Given the description of an element on the screen output the (x, y) to click on. 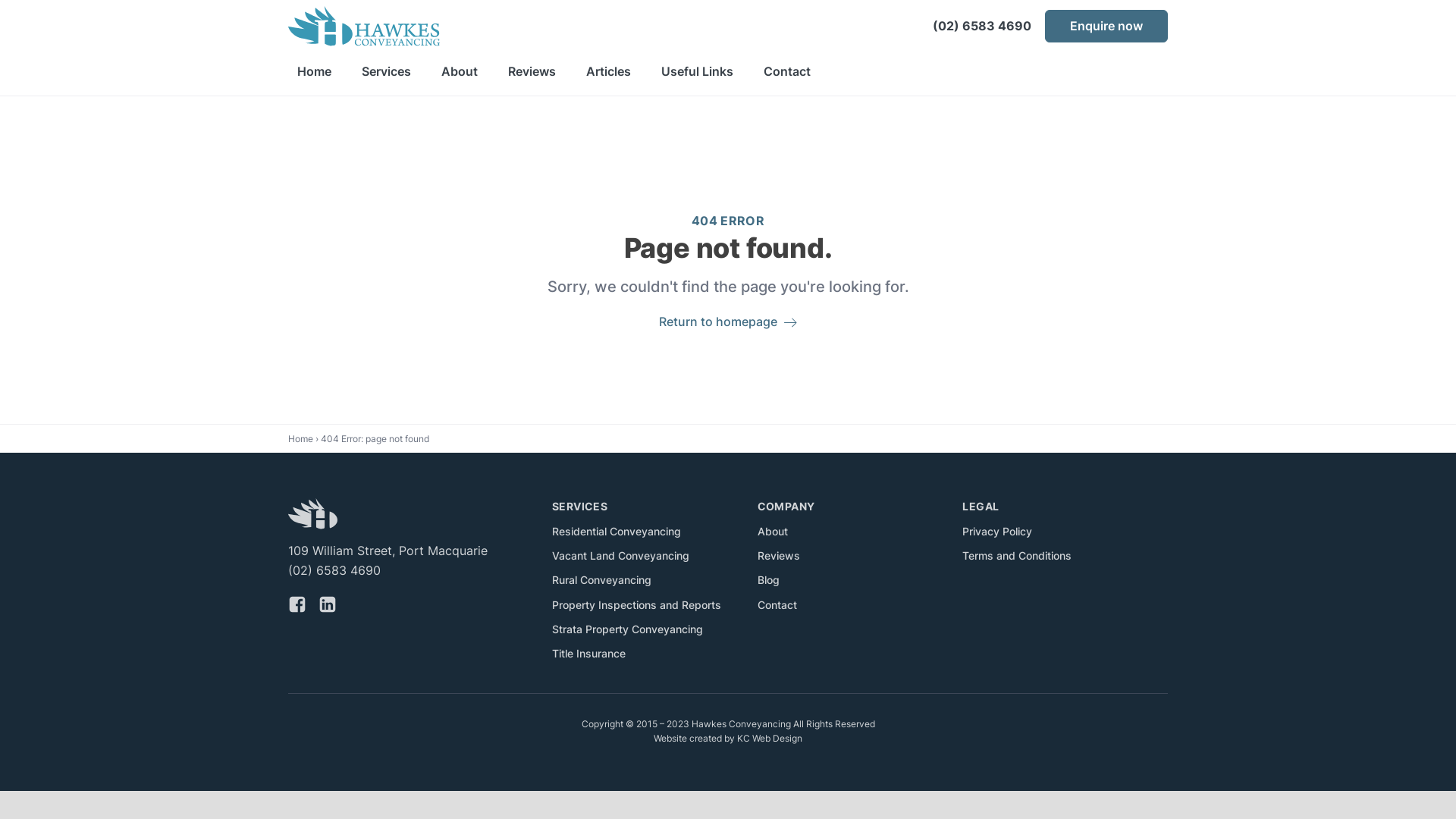
Useful Links Element type: text (697, 71)
Website created by KC Web Design Element type: text (727, 738)
Terms and Conditions Element type: text (1016, 555)
Rural Conveyancing Element type: text (601, 579)
Services Element type: text (386, 71)
Reviews Element type: text (778, 555)
Home Element type: text (300, 438)
Title Insurance Element type: text (588, 653)
Return to homepage Element type: text (727, 322)
Property Inspections and Reports Element type: text (636, 604)
Contact Element type: text (786, 71)
(02) 6583 4690 Element type: text (334, 570)
Reviews Element type: text (531, 71)
About Element type: text (459, 71)
Privacy Policy Element type: text (997, 531)
Residential Conveyancing Element type: text (616, 531)
Strata Property Conveyancing Element type: text (627, 629)
Articles Element type: text (608, 71)
About Element type: text (772, 531)
Blog Element type: text (768, 579)
Enquire now Element type: text (1105, 26)
(02) 6583 4690 Element type: text (981, 26)
Home Element type: text (314, 71)
Contact Element type: text (777, 604)
Vacant Land Conveyancing Element type: text (620, 555)
